Given the description of an element on the screen output the (x, y) to click on. 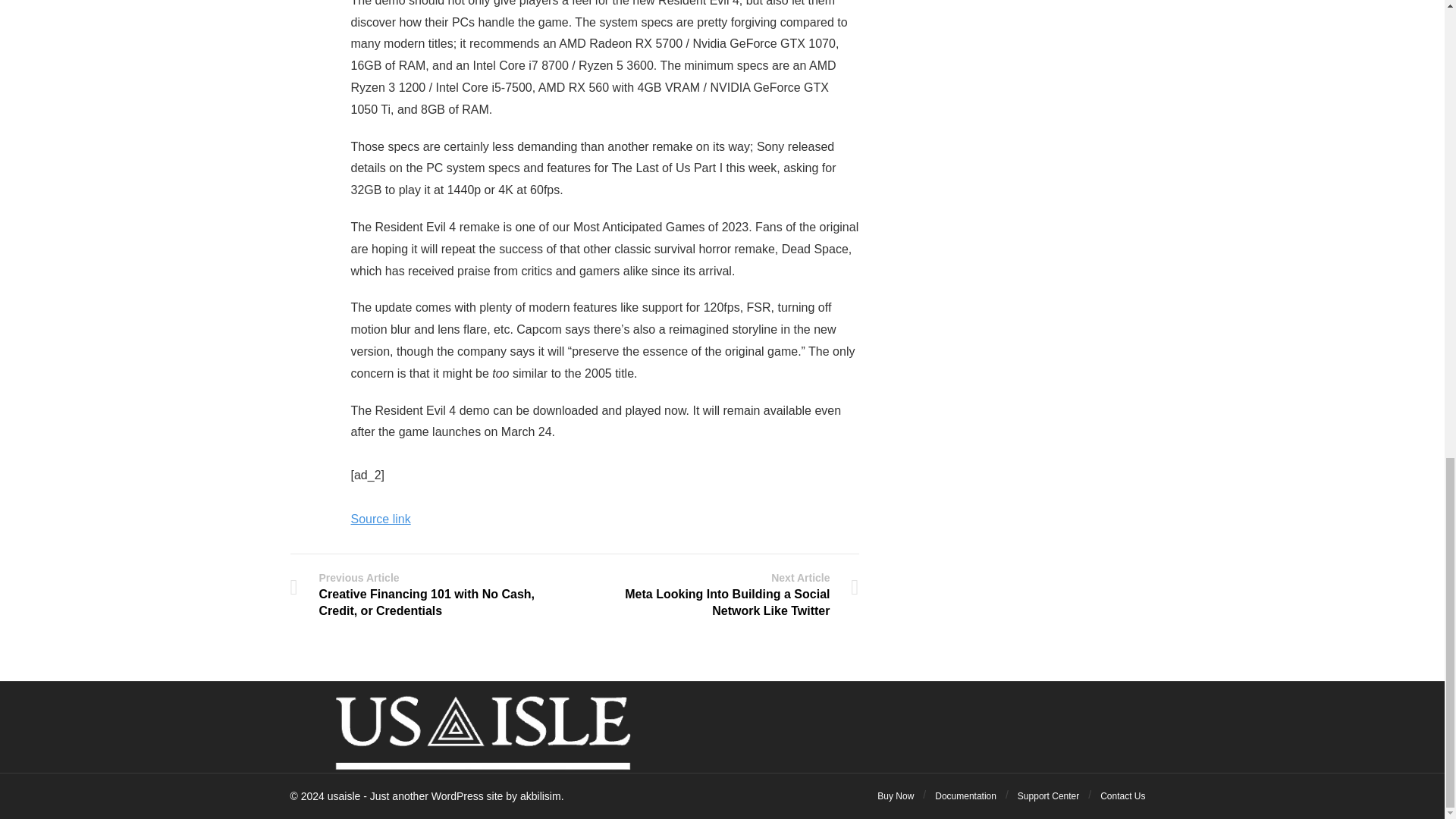
Source link (380, 518)
Support Center (1047, 796)
Documentation (964, 796)
usaisle (344, 796)
Buy Now (895, 796)
akbilisim (539, 796)
akbilisim (539, 796)
Contact Us (1122, 796)
Just another WordPress site (344, 796)
